Given the description of an element on the screen output the (x, y) to click on. 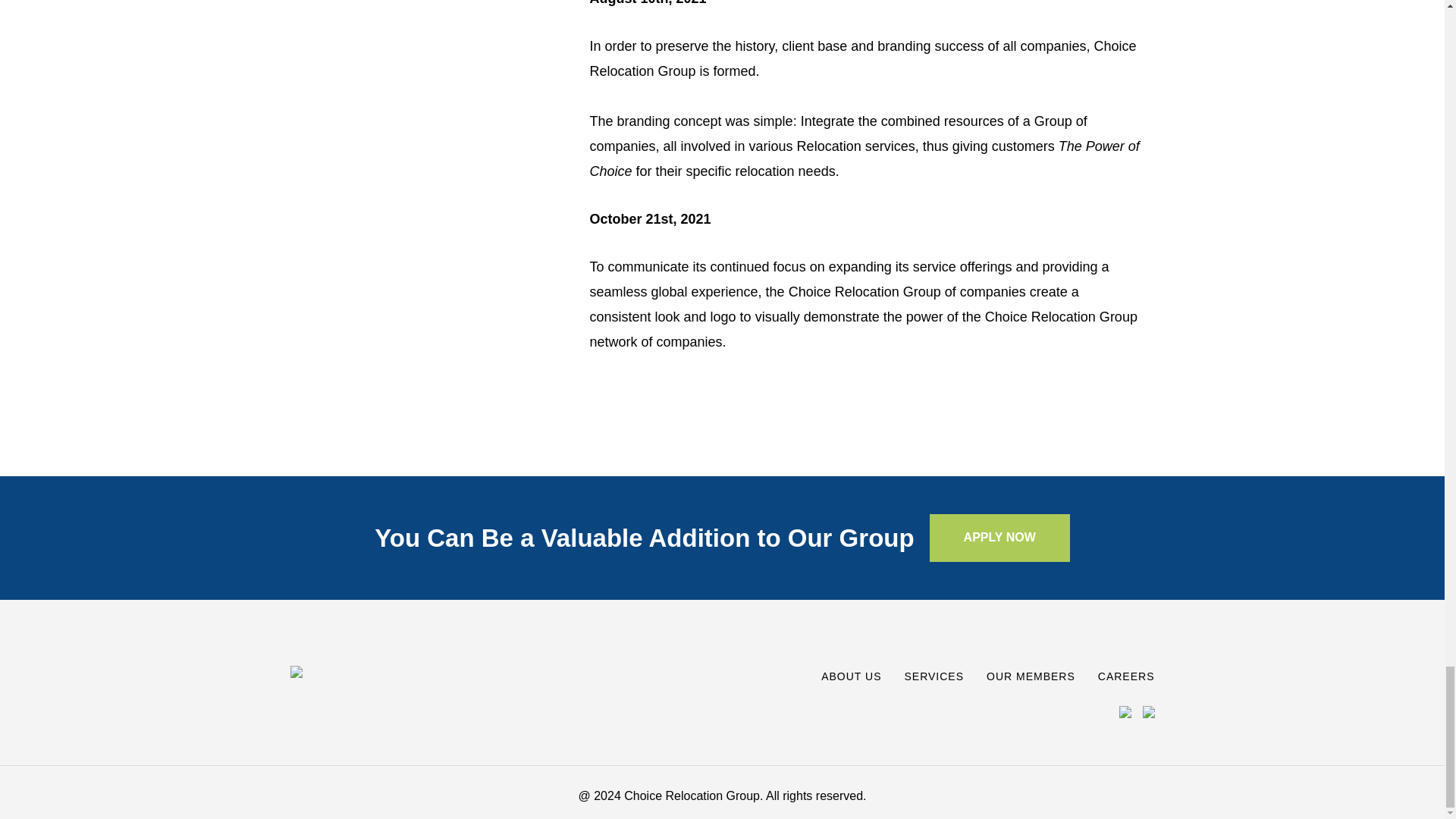
OUR MEMBERS (1031, 676)
ABOUT US (850, 676)
SERVICES (933, 676)
CAREERS (1125, 676)
APPLY NOW (1000, 537)
